Given the description of an element on the screen output the (x, y) to click on. 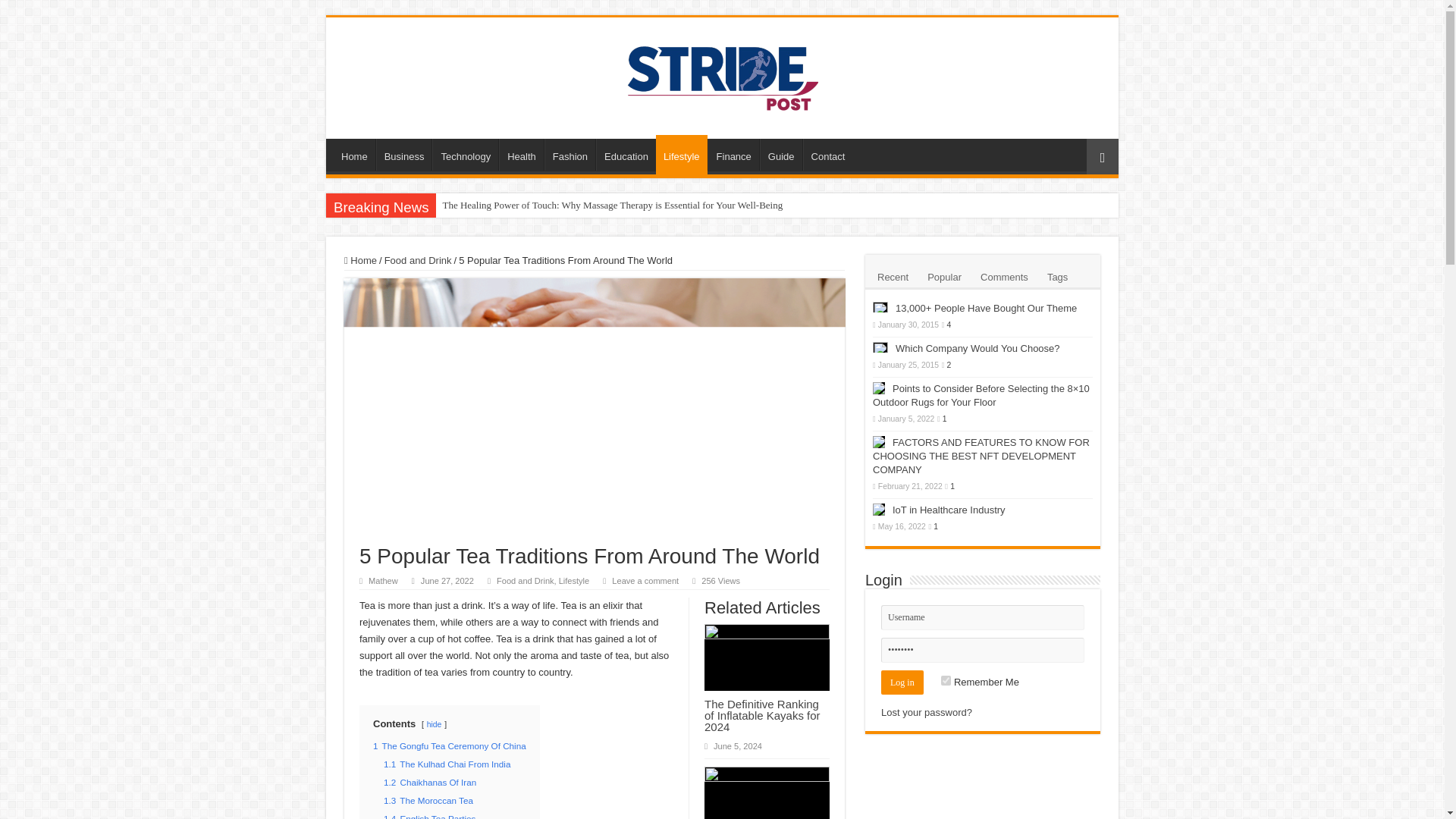
Fashion (569, 154)
Food and Drink (417, 260)
Log in (901, 682)
forever (945, 680)
Technology (464, 154)
hide (434, 724)
1 The Gongfu Tea Ceremony Of China (448, 746)
Finance (732, 154)
Home (354, 154)
Food and Drink (525, 580)
Home (360, 260)
Mathew (382, 580)
Password (982, 650)
